Given the description of an element on the screen output the (x, y) to click on. 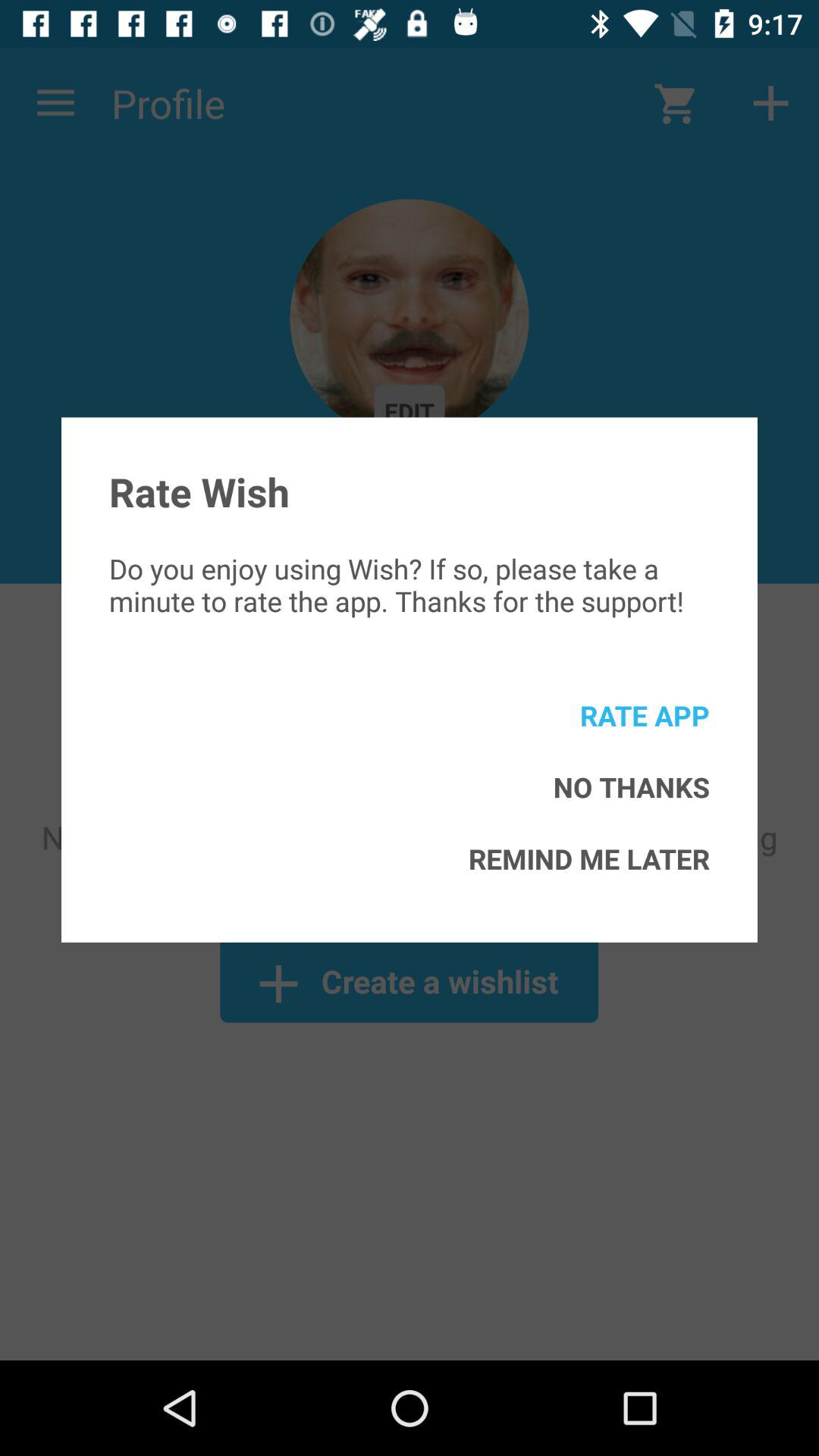
swipe until no thanks (631, 786)
